Given the description of an element on the screen output the (x, y) to click on. 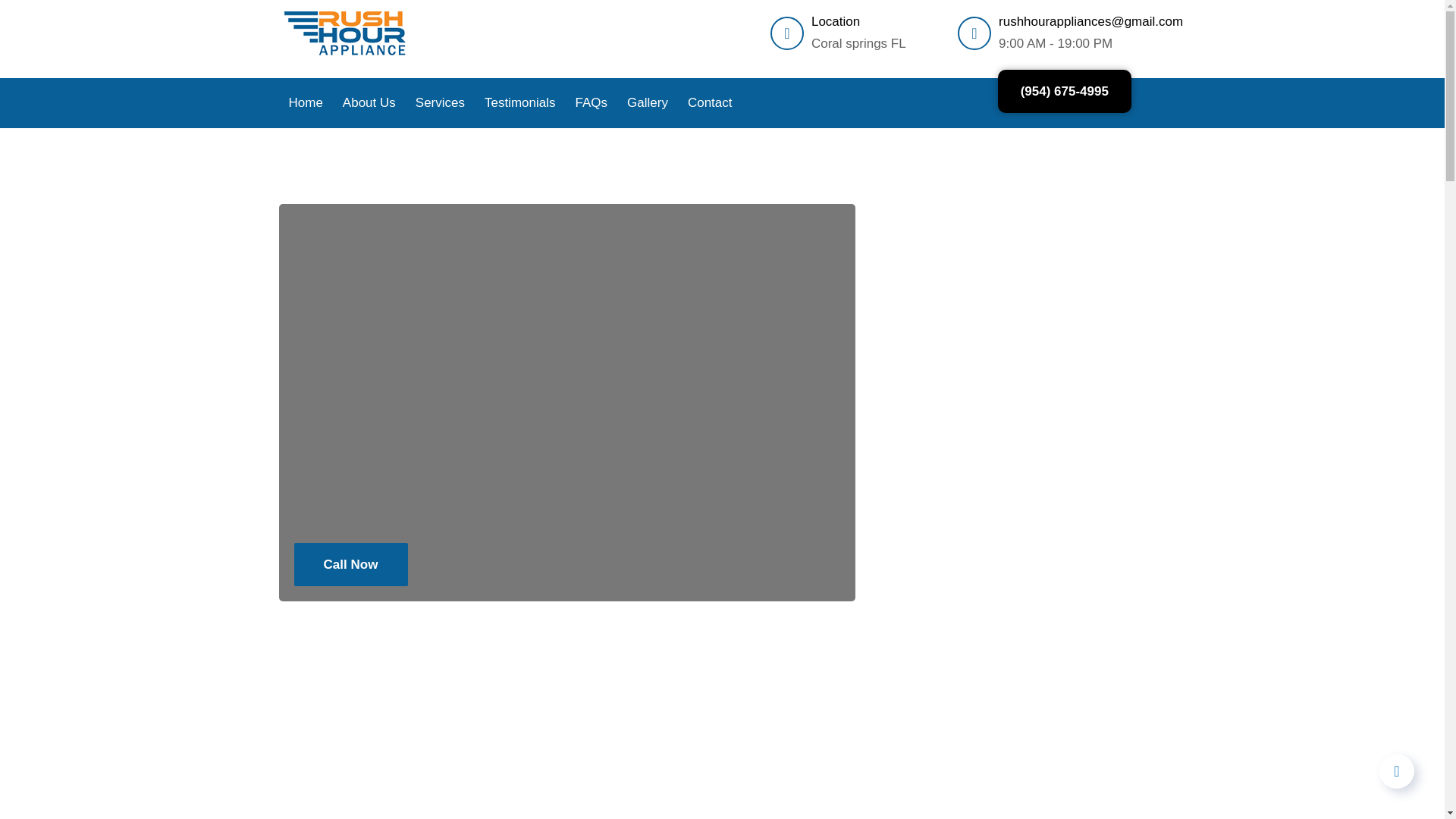
FAQs (591, 102)
Call Now (350, 564)
Contact (710, 102)
About Us (369, 102)
Gallery (647, 102)
Testimonials (520, 102)
Services (440, 102)
Home (306, 102)
